Given the description of an element on the screen output the (x, y) to click on. 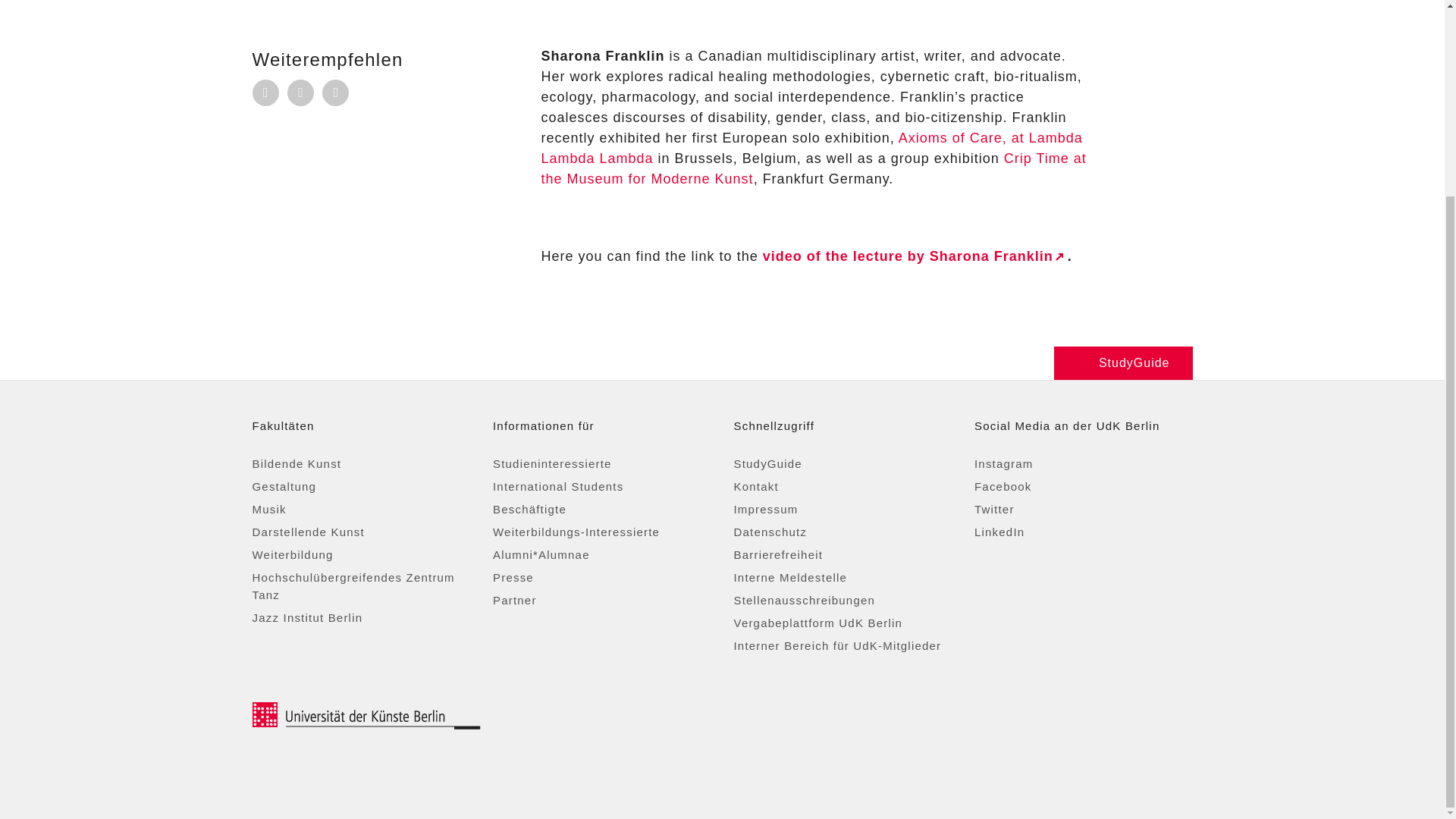
Seite auf Facebook weiterempfehlen (300, 92)
Axioms of Care, at Lambda Lambda Lambda (812, 147)
Crip Time at the Museum for Moderne Kunst (813, 168)
Seite per E-Mail weiterempfehlen (264, 92)
video of the lecture by Sharona Franklin (914, 255)
Seite auf Twitter weiterempfehlen (335, 92)
StudyGuide (1123, 363)
